Given the description of an element on the screen output the (x, y) to click on. 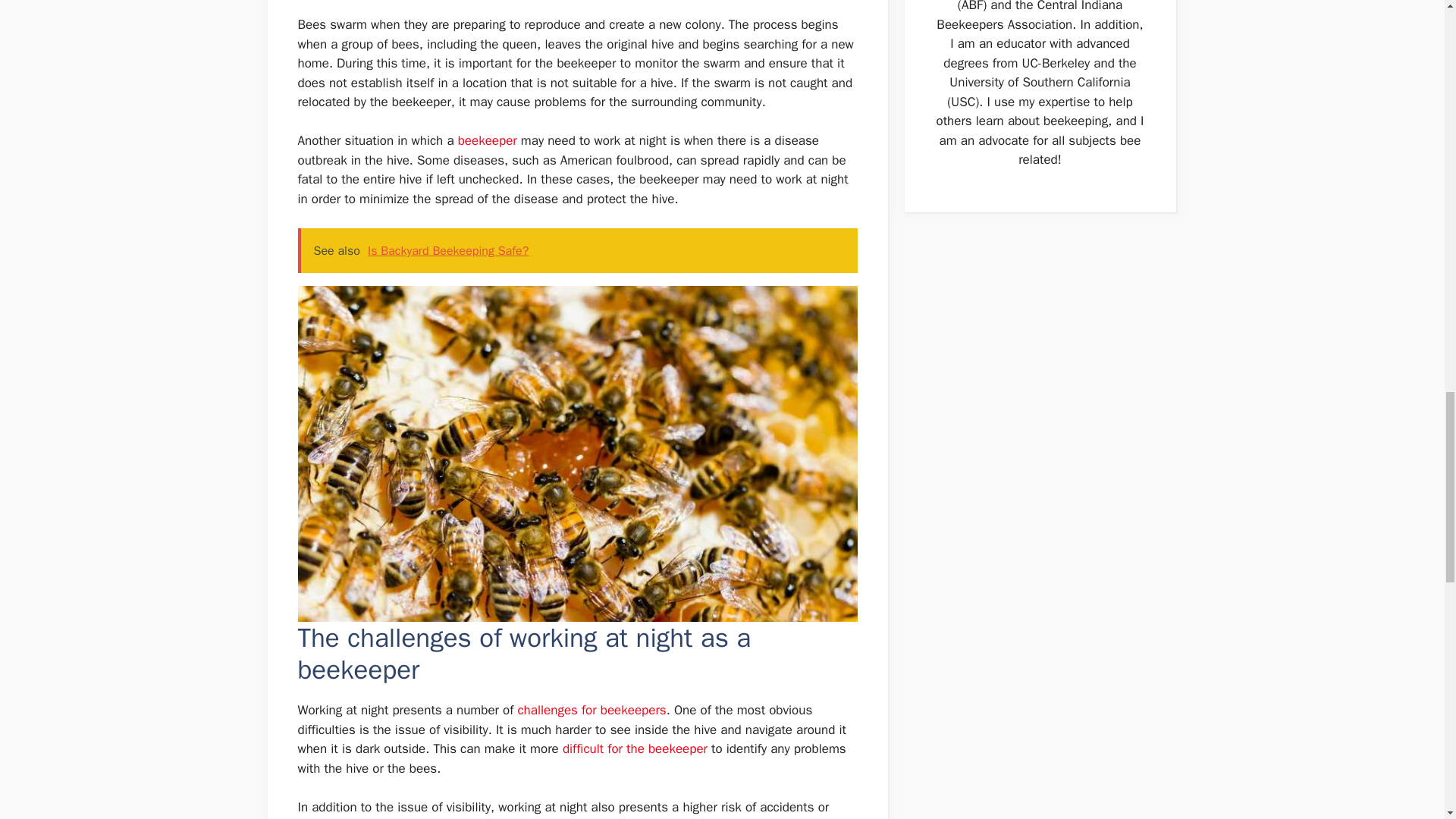
beekeeper (487, 140)
challenges for beekeepers (590, 709)
difficult for the beekeeper (634, 748)
See also  Is Backyard Beekeeping Safe? (577, 250)
